Given the description of an element on the screen output the (x, y) to click on. 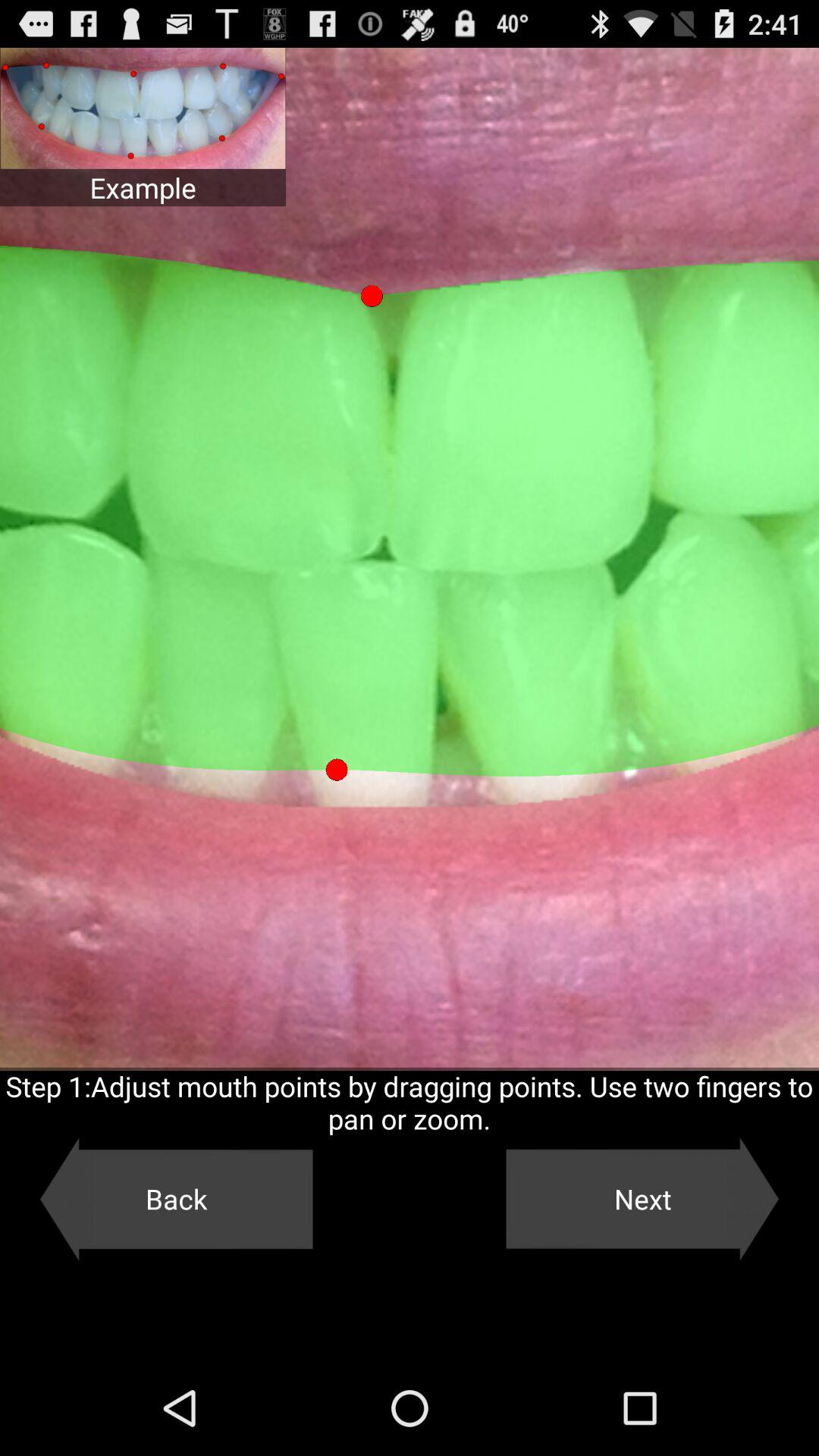
click item to the left of the next (175, 1198)
